Given the description of an element on the screen output the (x, y) to click on. 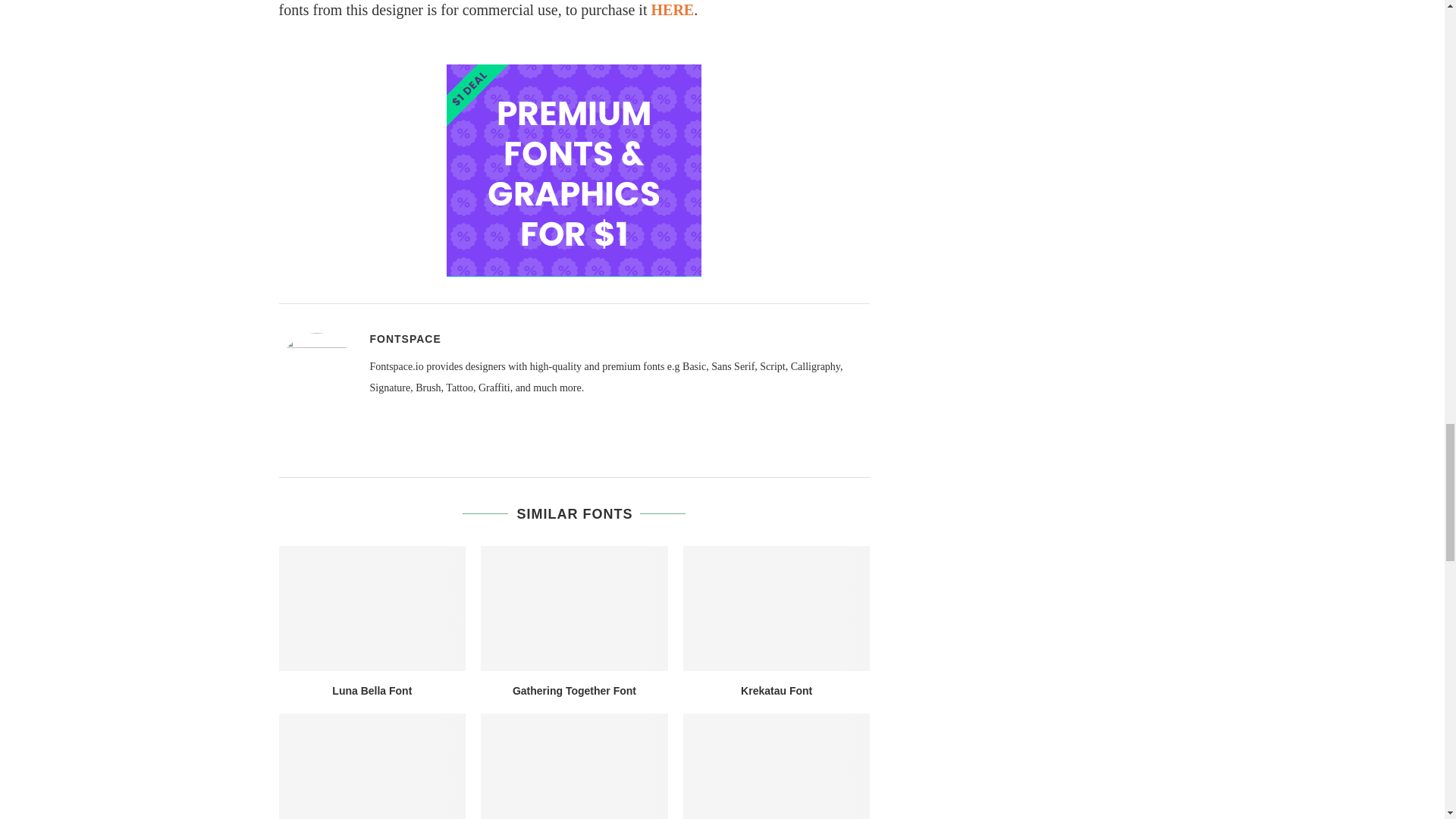
Mightyman Font (372, 766)
Posts by Fontspace (405, 338)
Krekatau Font (776, 608)
Gathering Together Font (574, 608)
Luna Bella Font (372, 608)
